Given the description of an element on the screen output the (x, y) to click on. 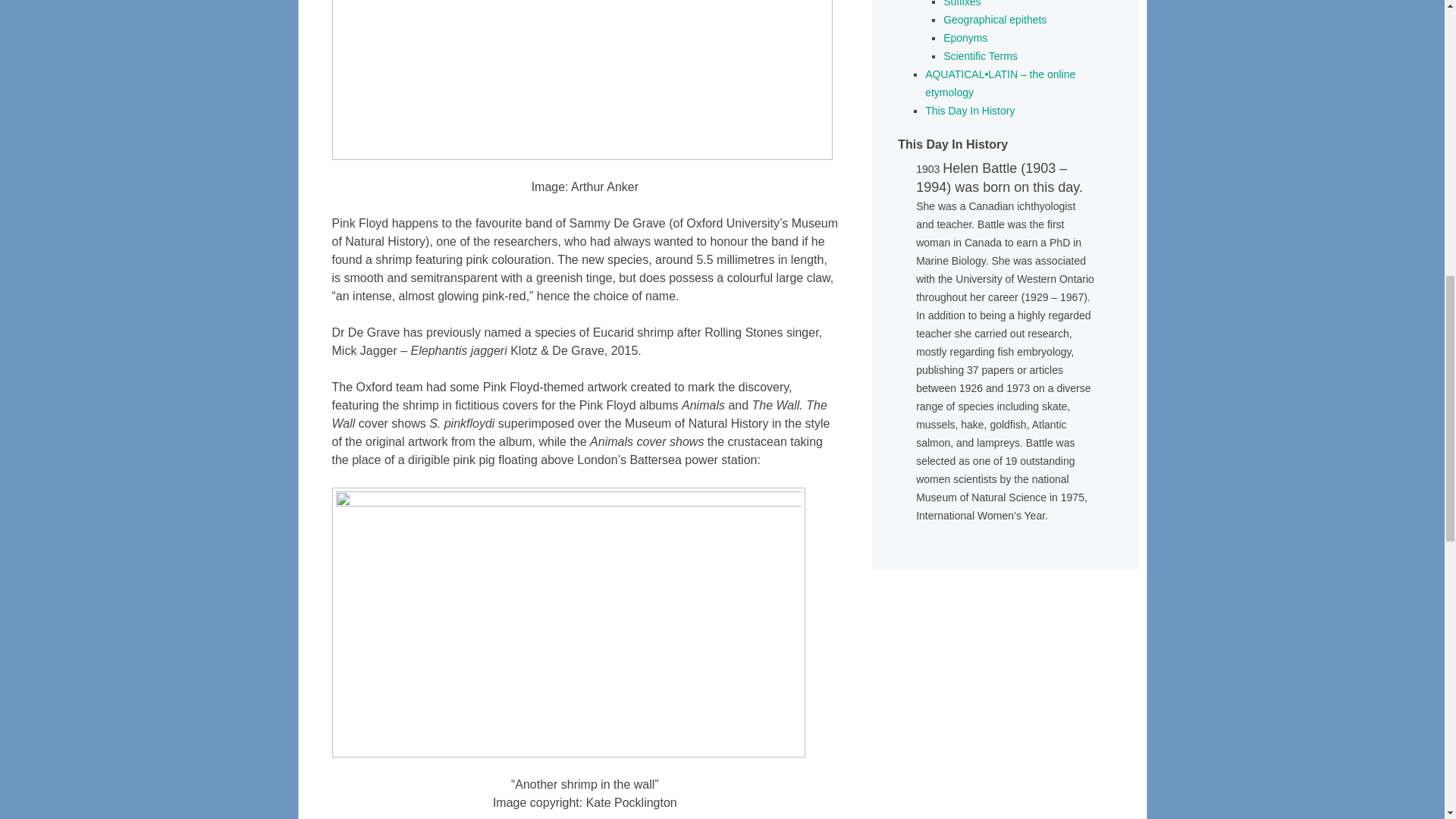
Eponyms (965, 37)
This Day In History (969, 110)
Geographical epithets (994, 19)
Suffixes (962, 3)
Scientific Terms (980, 55)
